Given the description of an element on the screen output the (x, y) to click on. 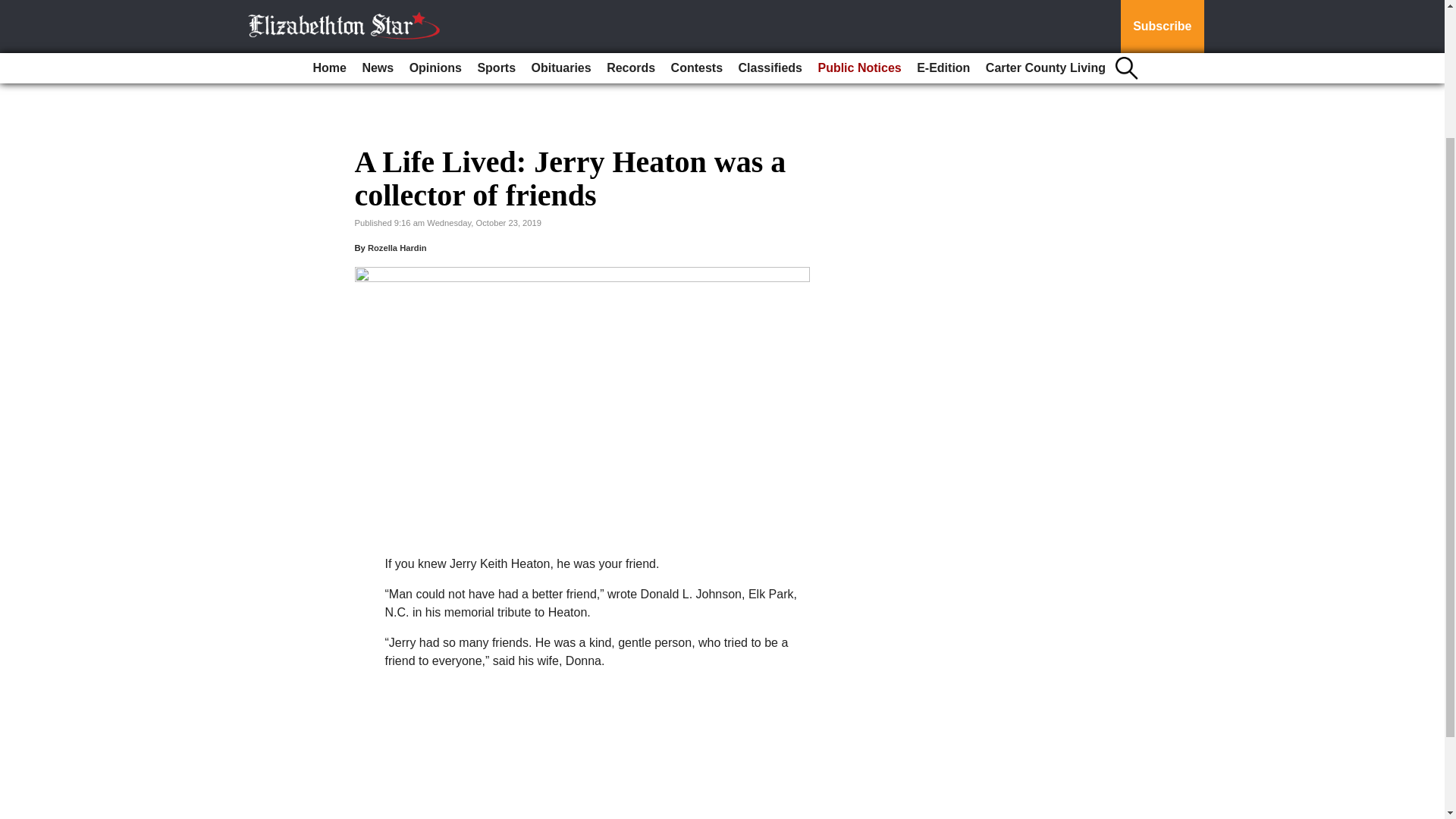
Rozella Hardin (397, 247)
